Given the description of an element on the screen output the (x, y) to click on. 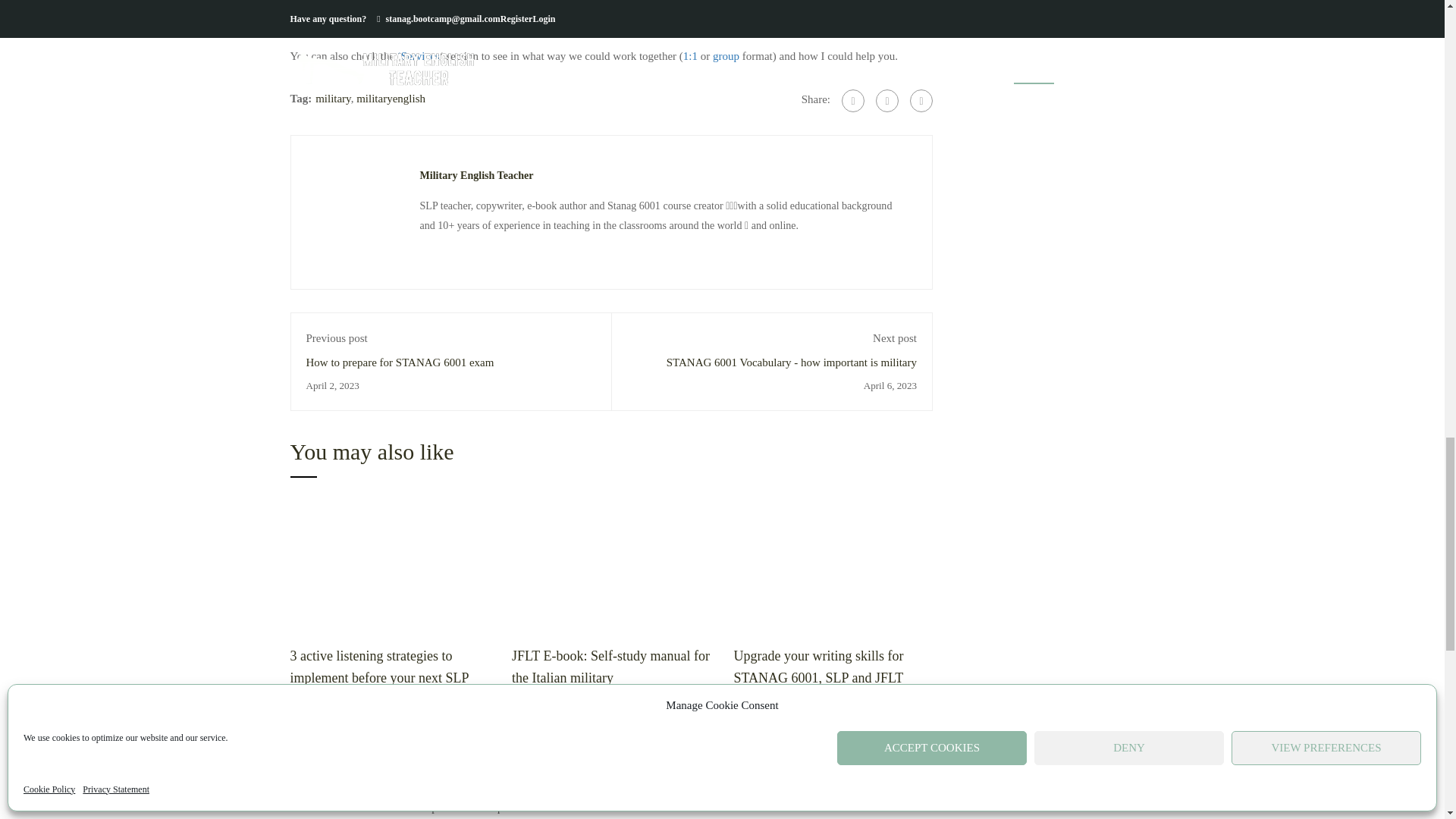
JFLT E-book: Self-study manual for the Italian military (611, 565)
Facebook (852, 100)
Pinterest (921, 100)
Twitter (887, 100)
